Given the description of an element on the screen output the (x, y) to click on. 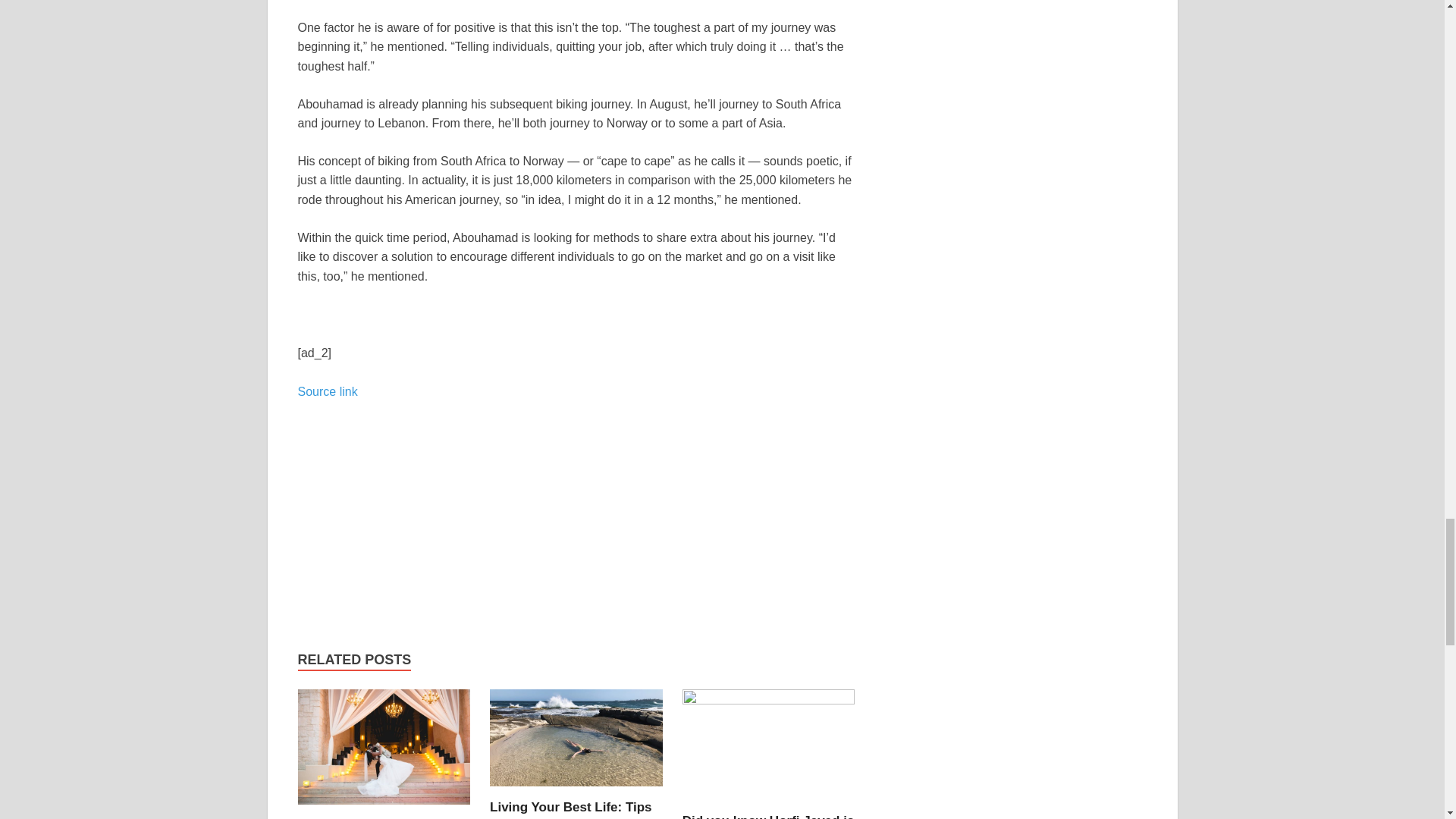
Wanderlust Weddings: Destination Wedding Dreams (383, 751)
Did you know Uorfi Javed is a Hania Amir fan? (768, 816)
Source link (326, 391)
Did you know Uorfi Javed is a Hania Amir fan? (768, 816)
Did you know Uorfi Javed is a Hania Amir fan? (769, 748)
